Given the description of an element on the screen output the (x, y) to click on. 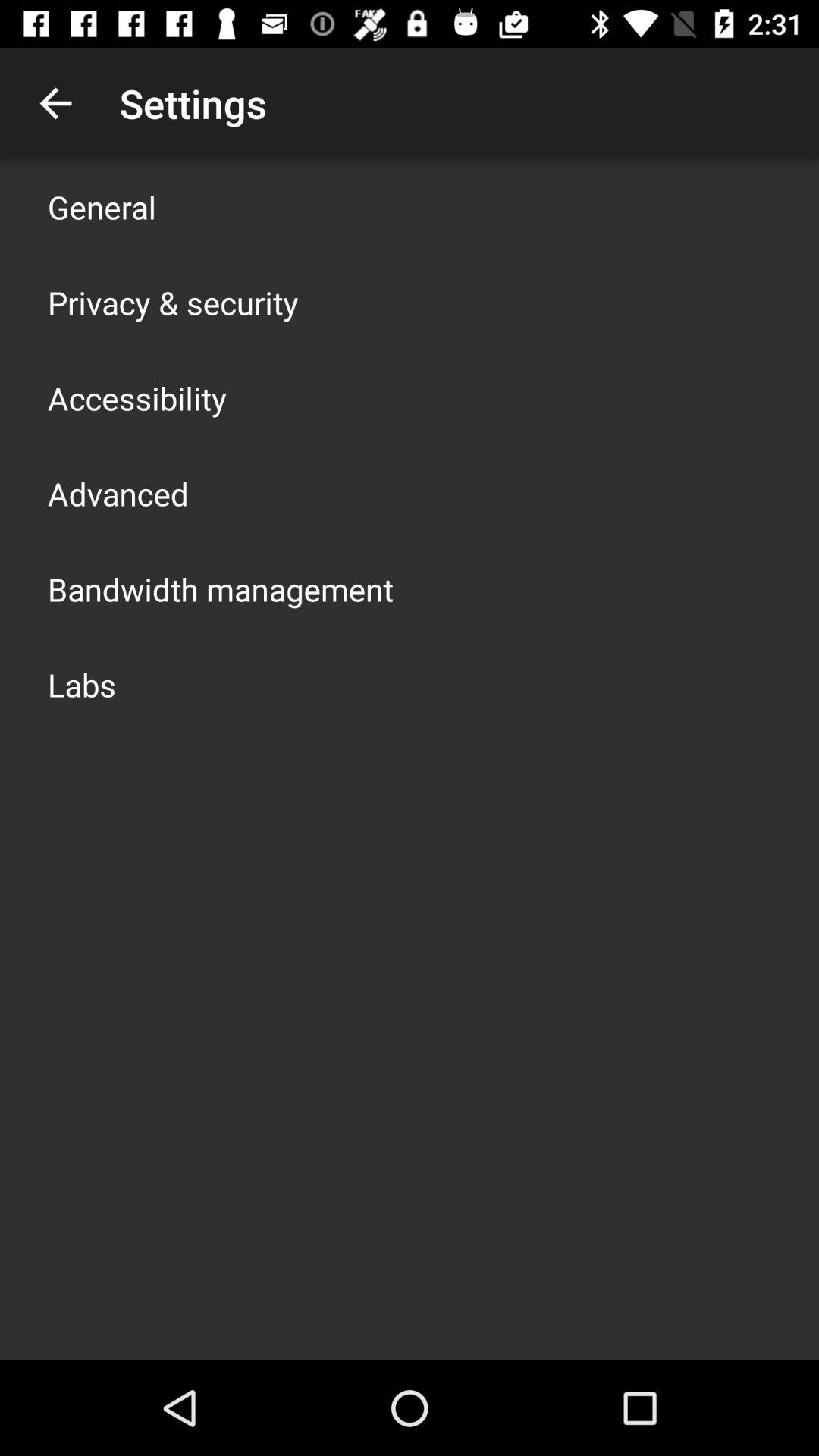
open icon above the bandwidth management item (117, 493)
